Given the description of an element on the screen output the (x, y) to click on. 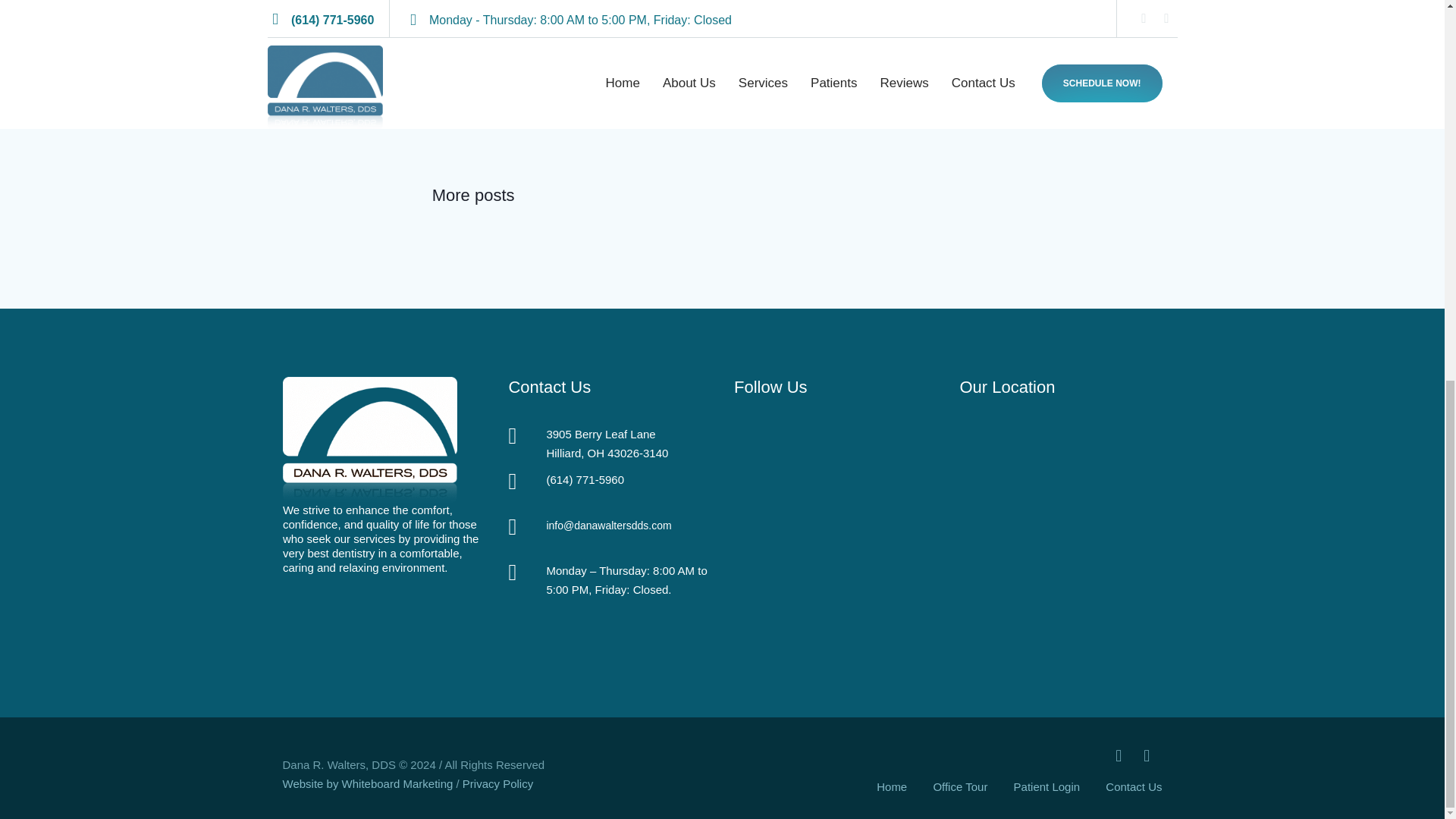
Facebook (1118, 755)
fb:page Facebook Social Plugin (834, 536)
Twitter (1146, 755)
